Given the description of an element on the screen output the (x, y) to click on. 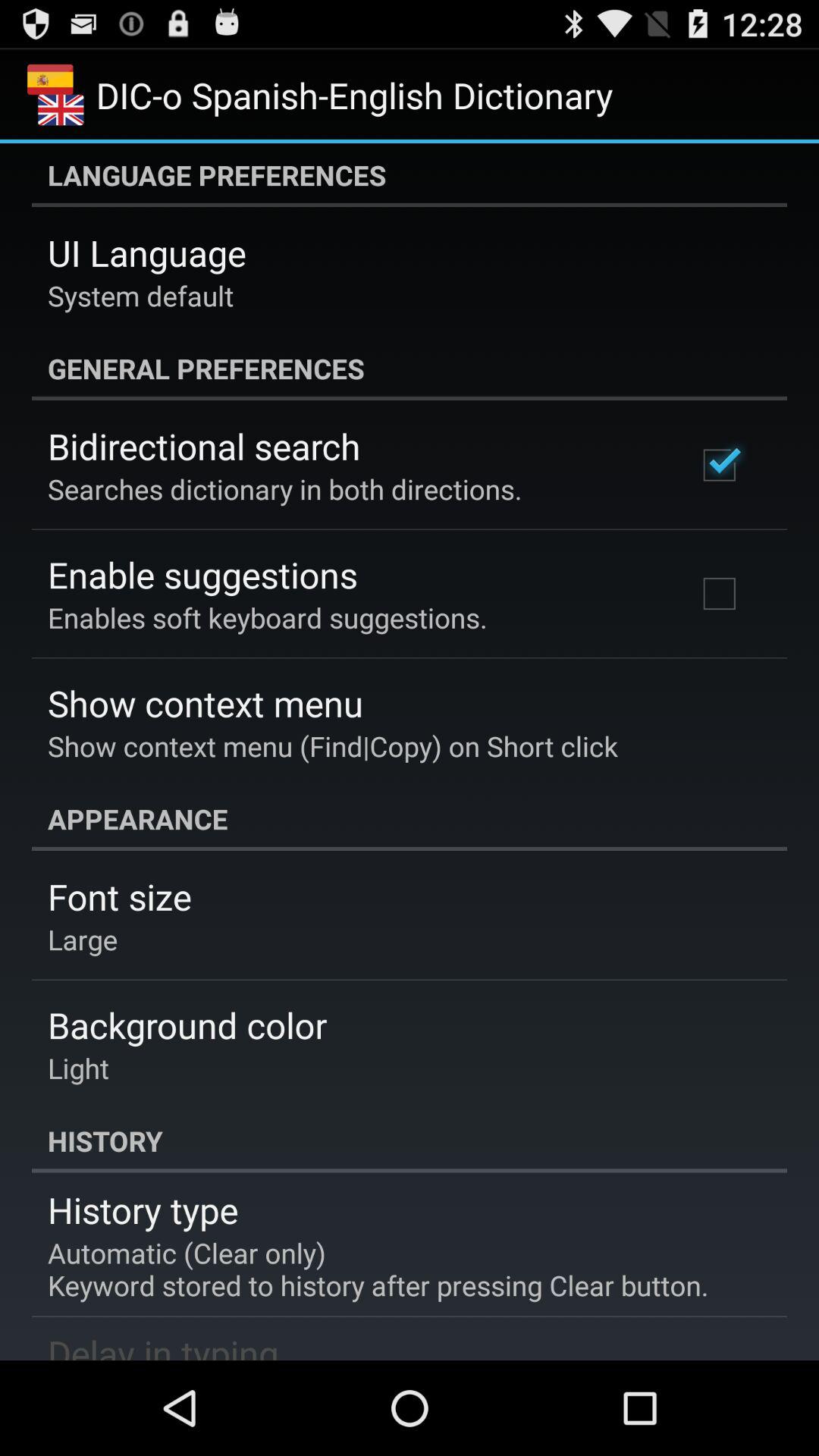
launch the history type (142, 1209)
